Given the description of an element on the screen output the (x, y) to click on. 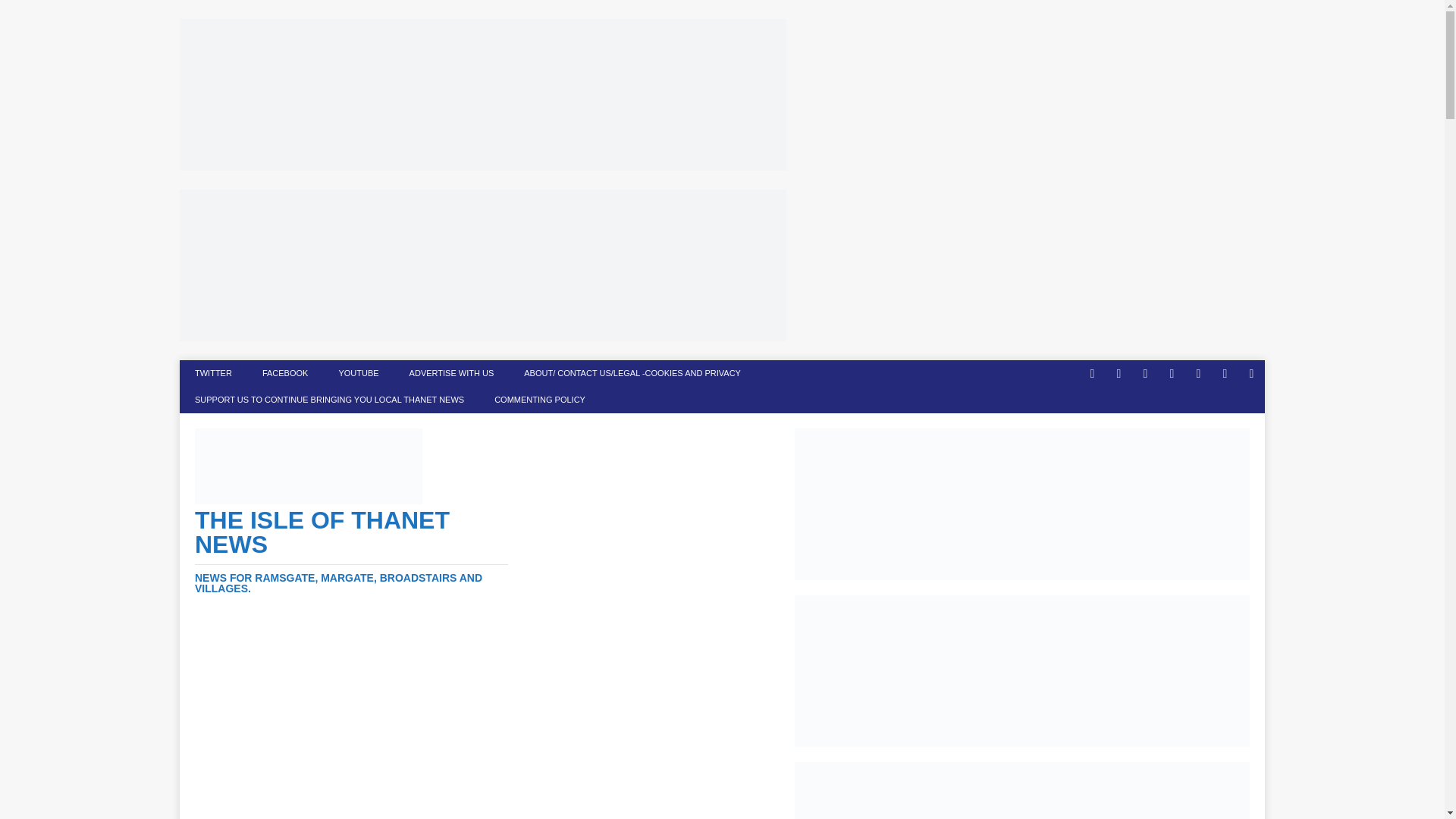
TWITTER (213, 373)
FACEBOOK (285, 373)
SUPPORT US TO CONTINUE BRINGING YOU LOCAL THANET NEWS (329, 399)
YOUTUBE (358, 373)
The Isle Of Thanet News (351, 550)
ADVERTISE WITH US (451, 373)
COMMENTING POLICY (539, 399)
